Given the description of an element on the screen output the (x, y) to click on. 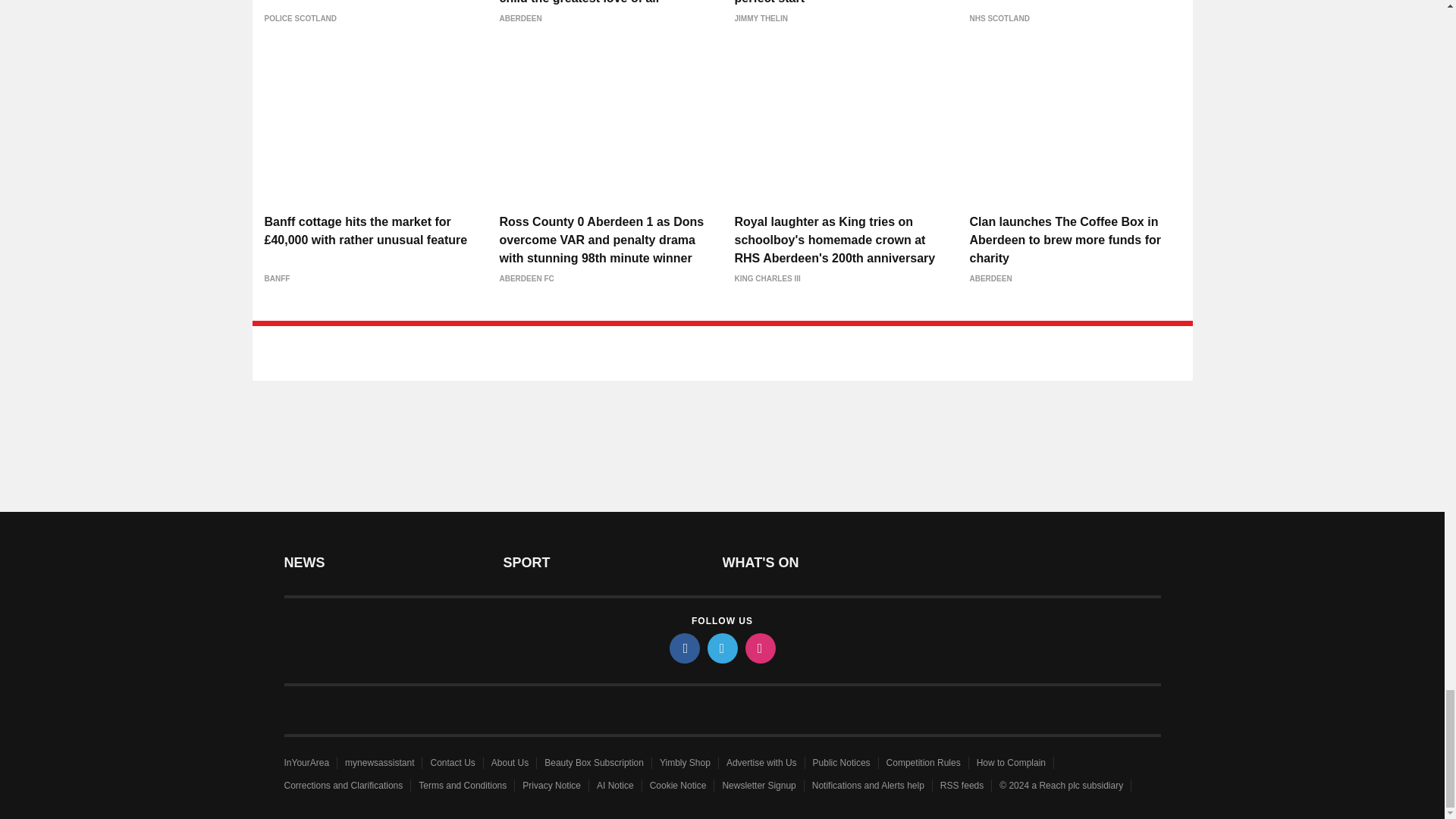
instagram (759, 648)
facebook (683, 648)
twitter (721, 648)
